Given the description of an element on the screen output the (x, y) to click on. 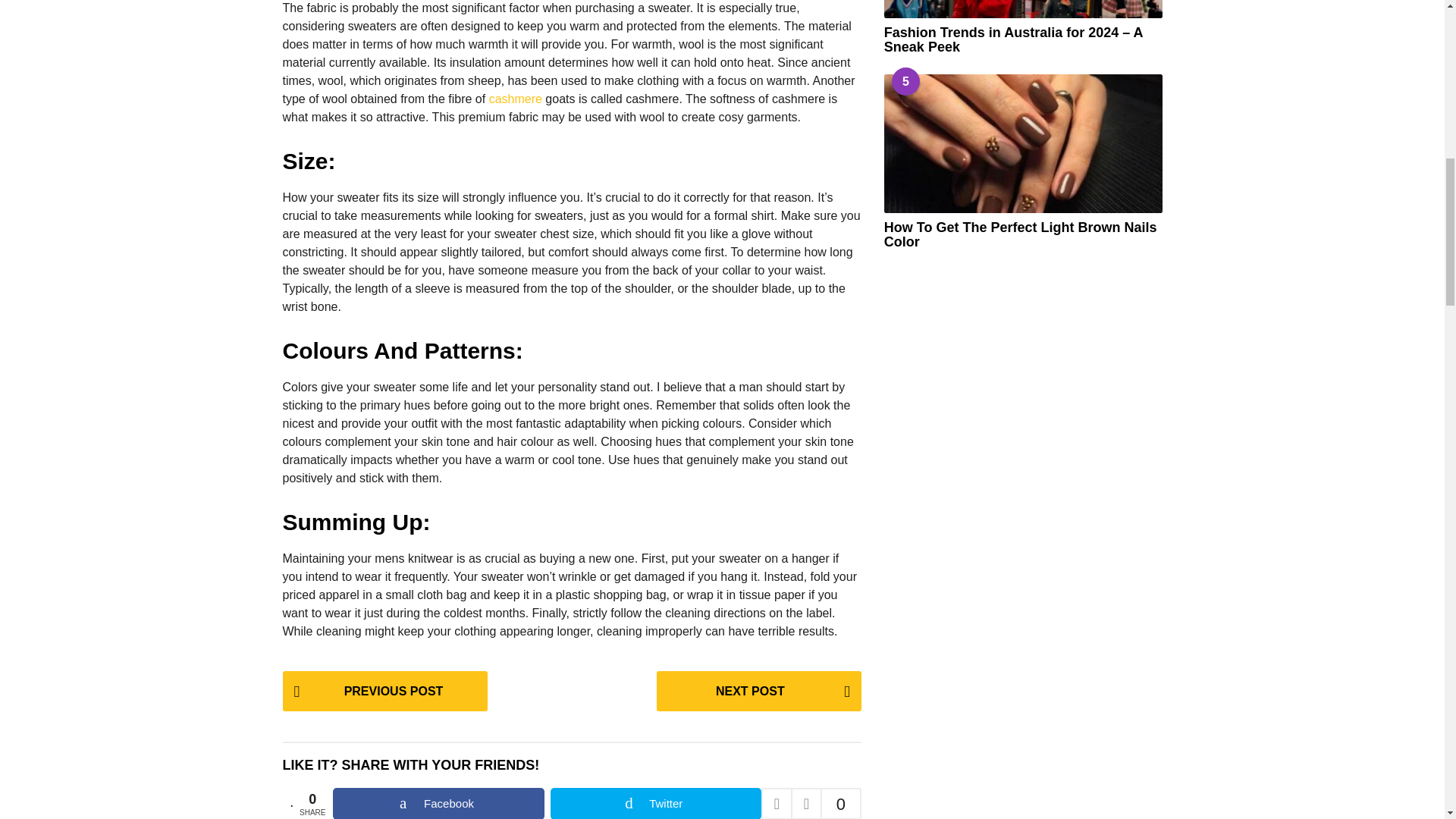
cashmere (515, 98)
Share on Facebook (438, 803)
NEXT POST (758, 690)
Share on Twitter (655, 803)
PREVIOUS POST (384, 690)
Twitter (655, 803)
Facebook (438, 803)
